Given the description of an element on the screen output the (x, y) to click on. 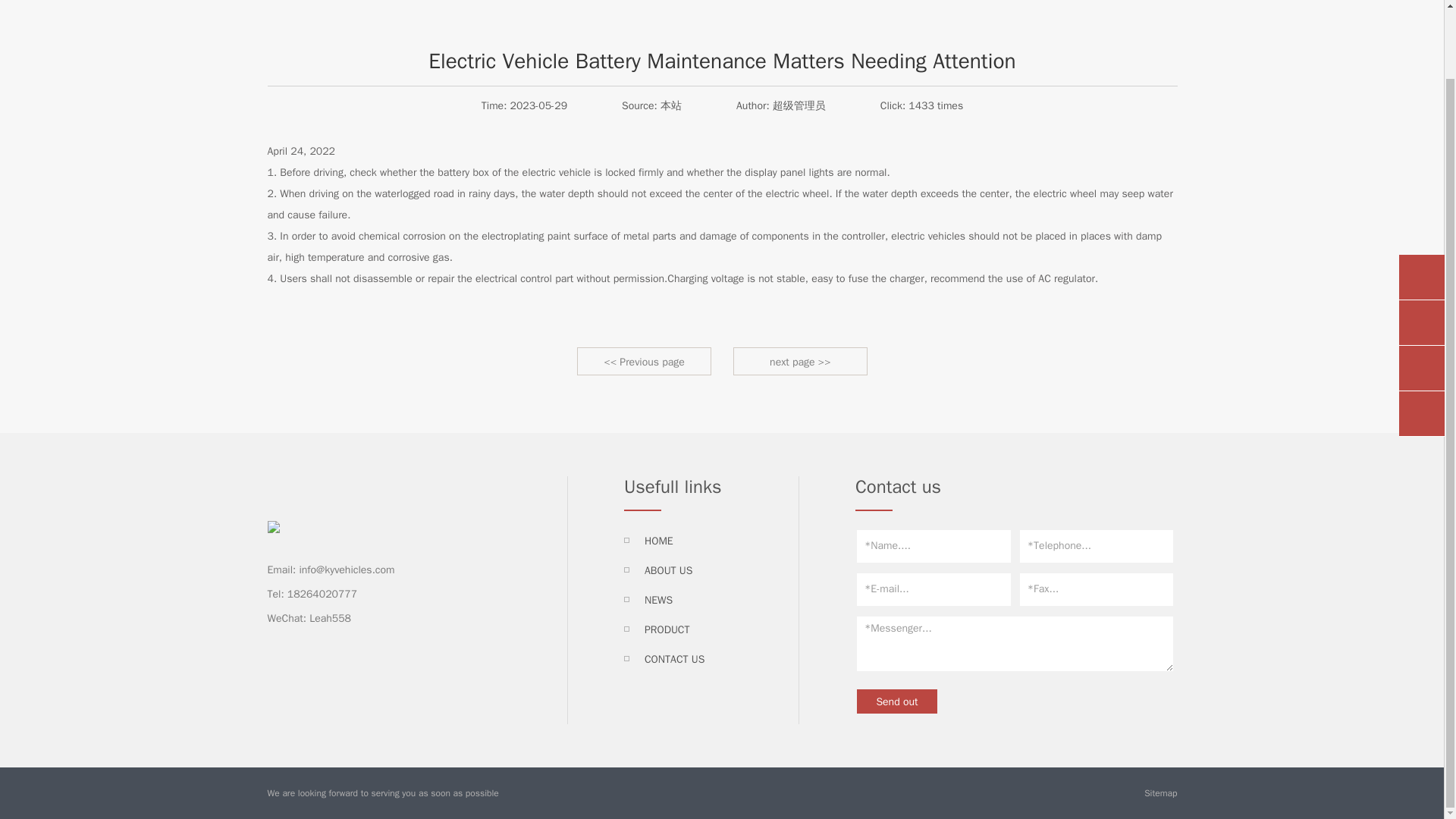
Send out (897, 701)
NEWS (658, 599)
CONTACT US (674, 658)
HOME (658, 540)
PRODUCT (667, 629)
ABOUT US (669, 570)
